Given the description of an element on the screen output the (x, y) to click on. 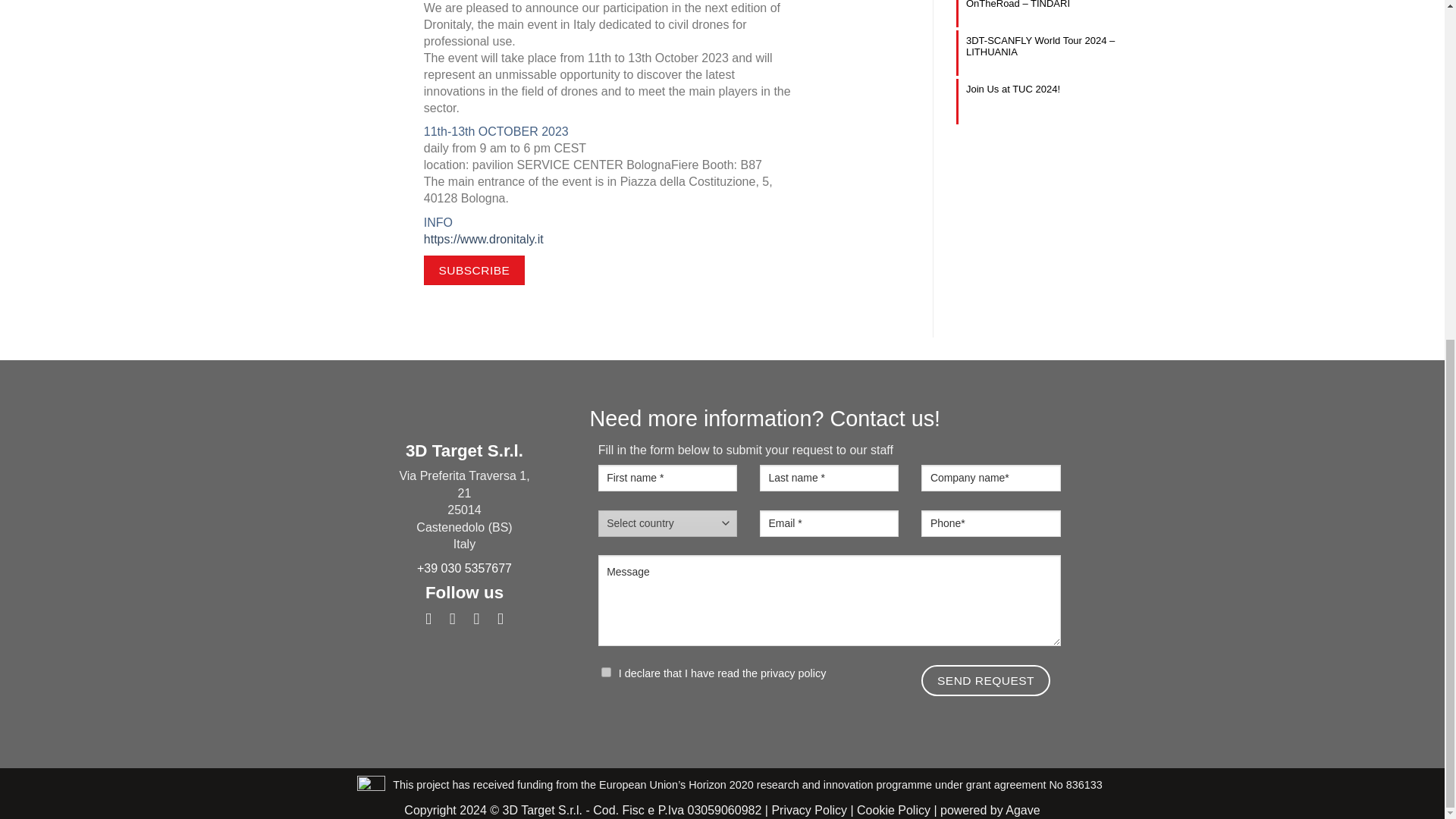
Follow on LinkedIn (476, 618)
Agave Studio (1022, 809)
Follow on Twitter (452, 618)
Cookie Policy  (893, 809)
Follow on YouTube (500, 618)
Follow on Facebook (427, 618)
1 (606, 672)
Privacy Policy  (809, 809)
Send request (985, 680)
